Given the description of an element on the screen output the (x, y) to click on. 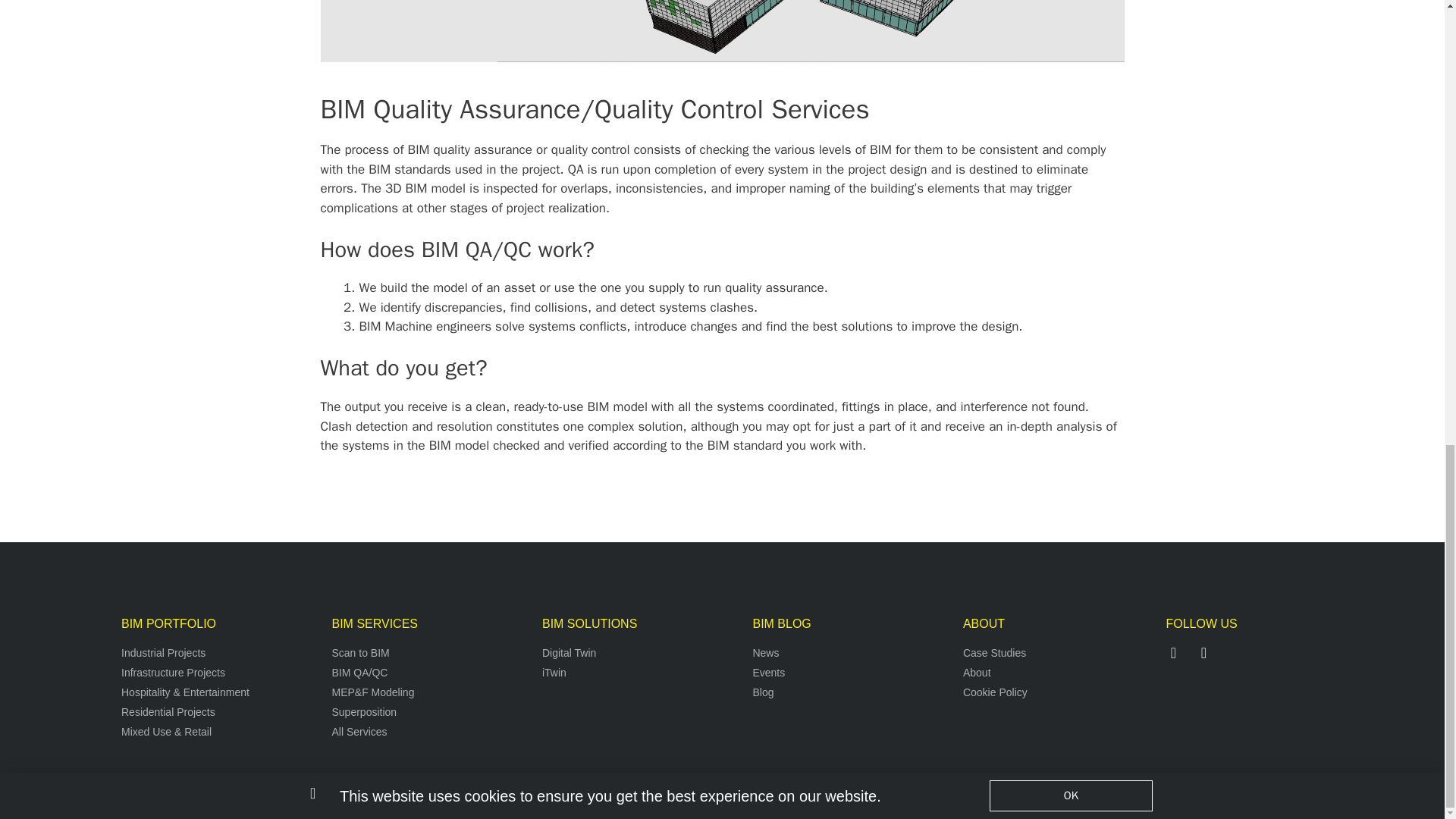
All Services (428, 731)
Scan to BIM (428, 652)
Cookie Policy (1059, 692)
